Given the description of an element on the screen output the (x, y) to click on. 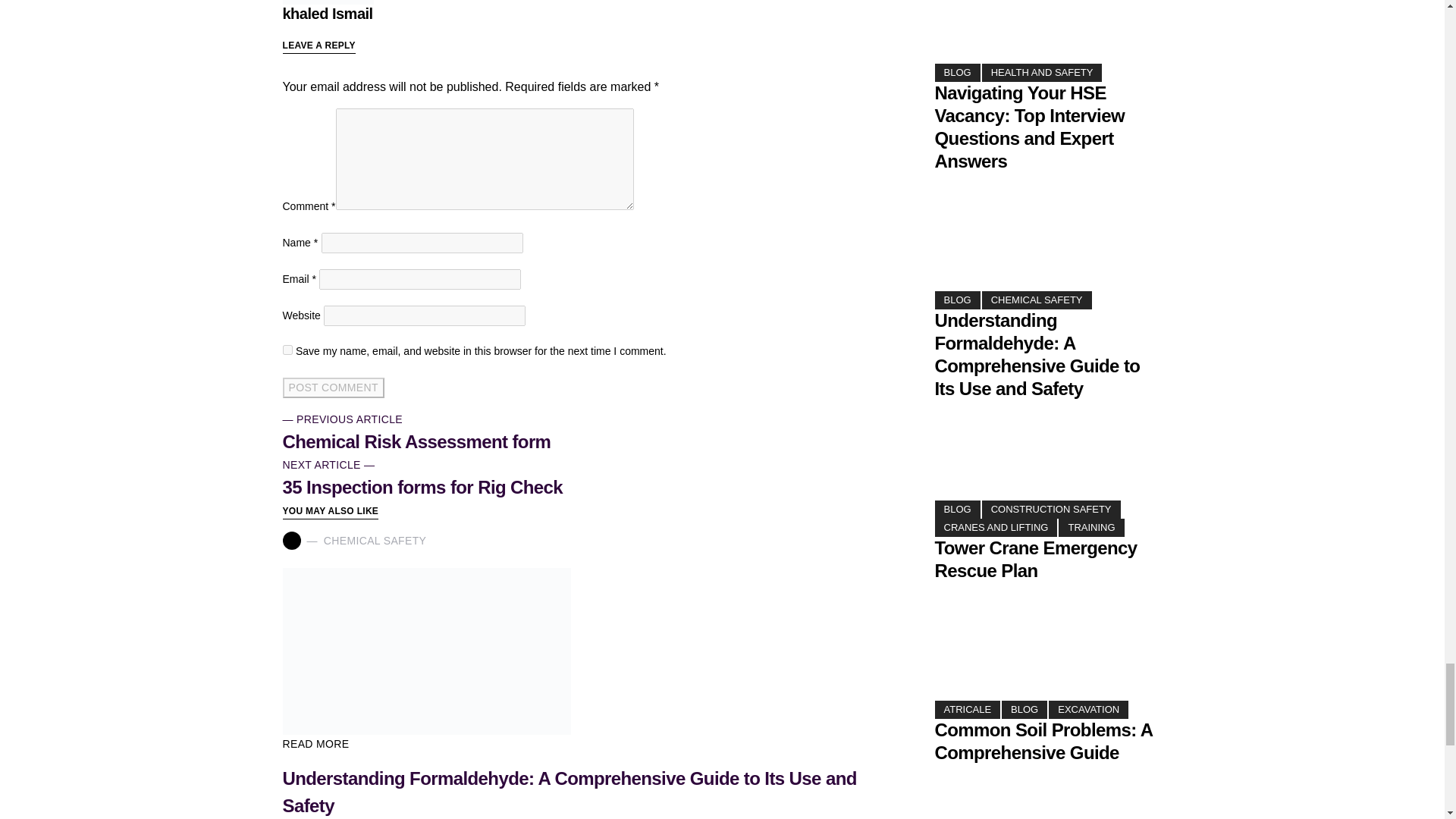
Post Comment (391, 753)
yes (332, 716)
